Given the description of an element on the screen output the (x, y) to click on. 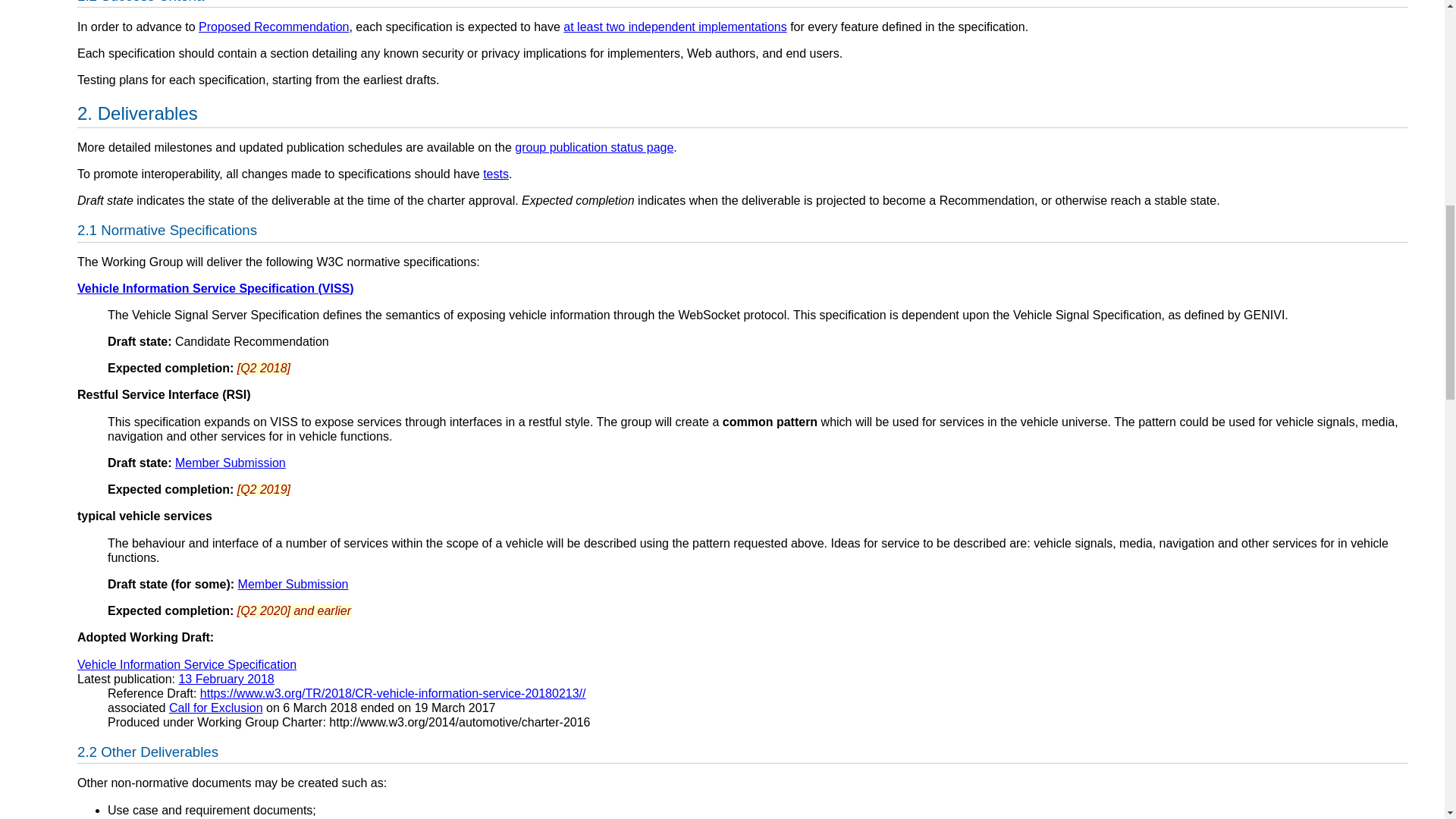
tests (495, 173)
at least two independent implementations (674, 26)
Proposed Recommendation (273, 26)
Vehicle Information Service Specification (187, 664)
13 February 2018 (225, 678)
group publication status page (593, 146)
Member Submission (293, 584)
Member Submission (229, 462)
Call for Exclusion (215, 707)
Proposed Recommendation (273, 26)
